Given the description of an element on the screen output the (x, y) to click on. 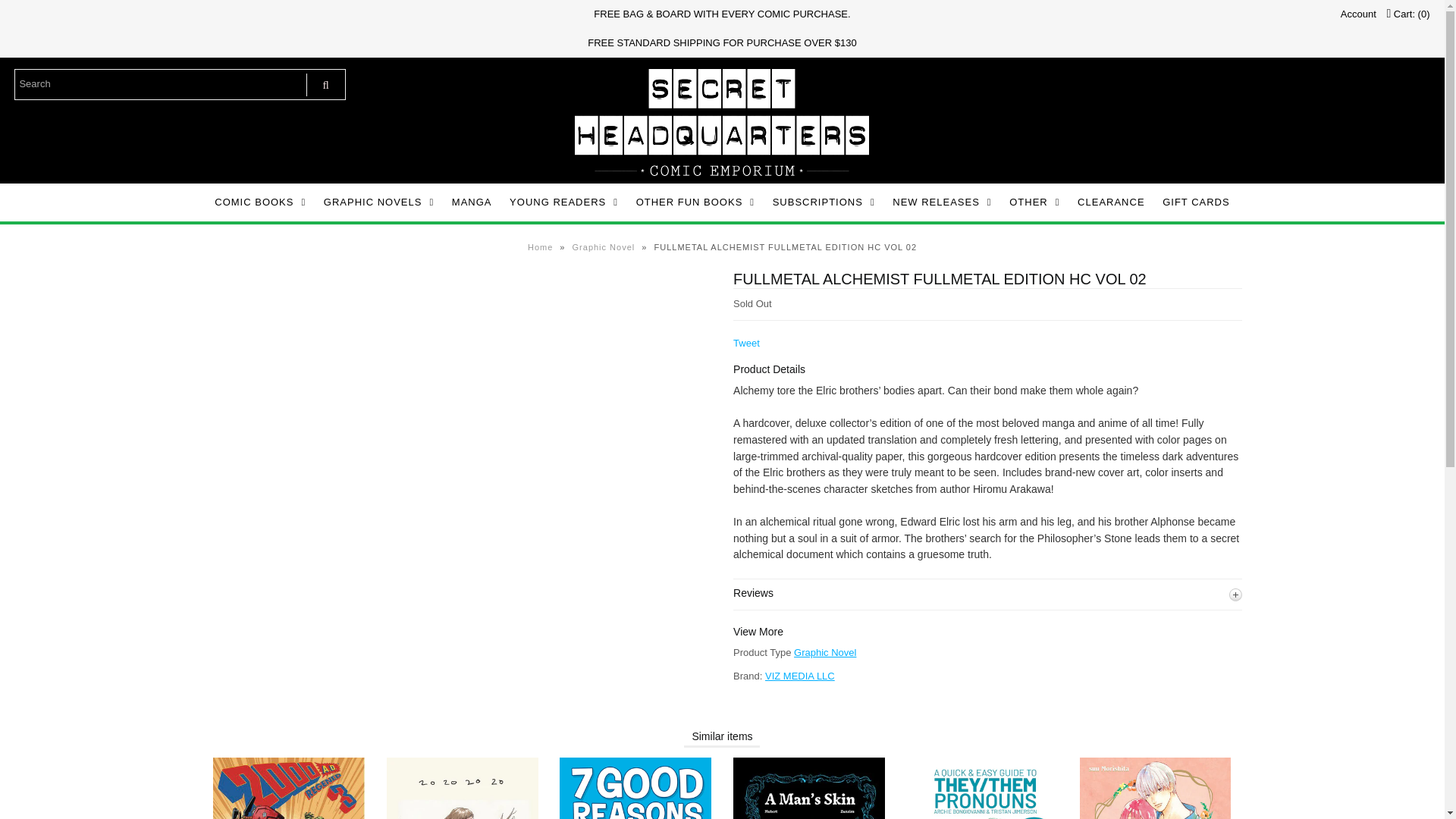
VIZ MEDIA LLC (799, 675)
Graphic Novel (824, 652)
Graphic Novel (605, 246)
Home (541, 246)
